Given the description of an element on the screen output the (x, y) to click on. 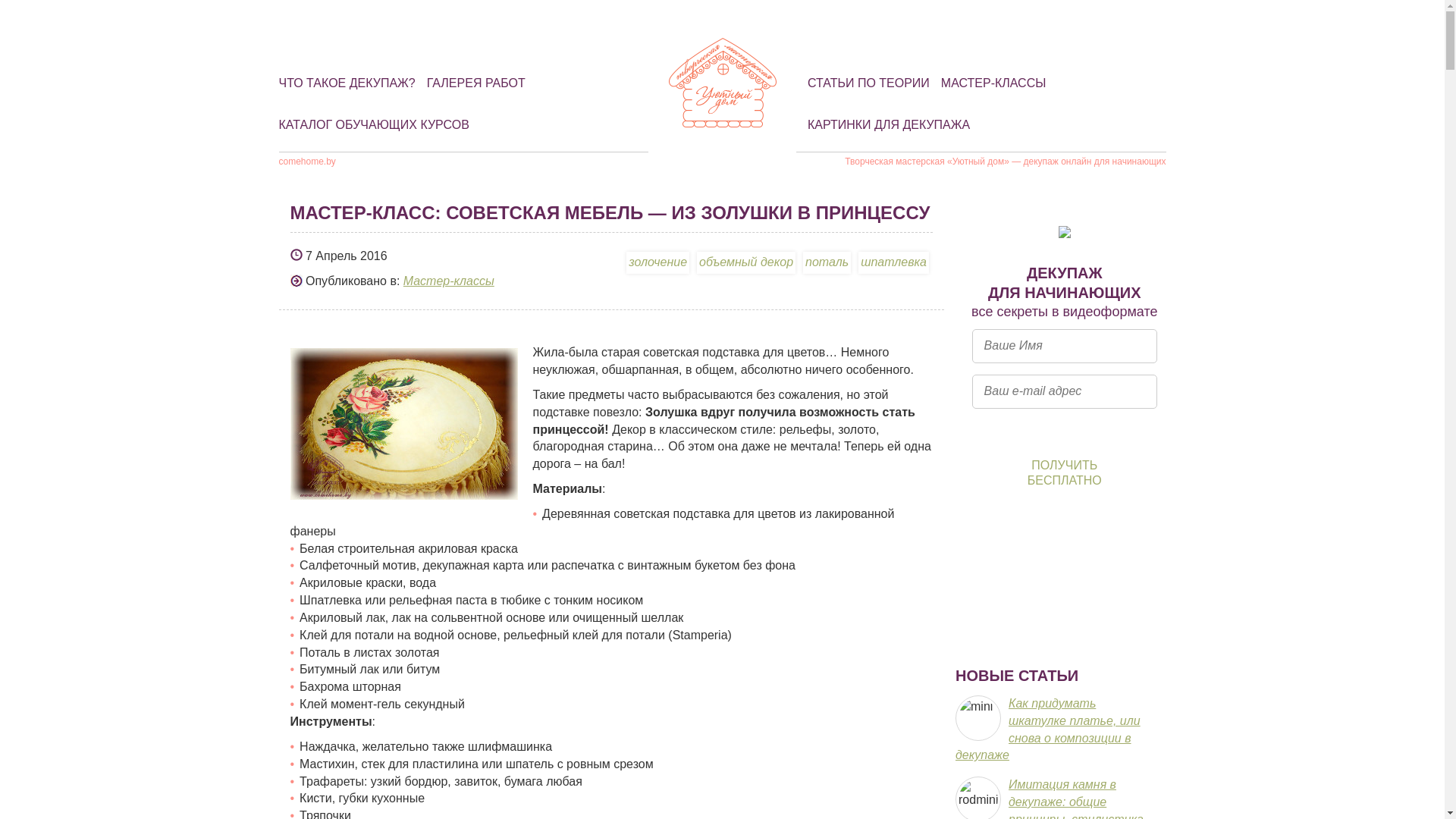
comehome.by Element type: text (307, 161)
